Given the description of an element on the screen output the (x, y) to click on. 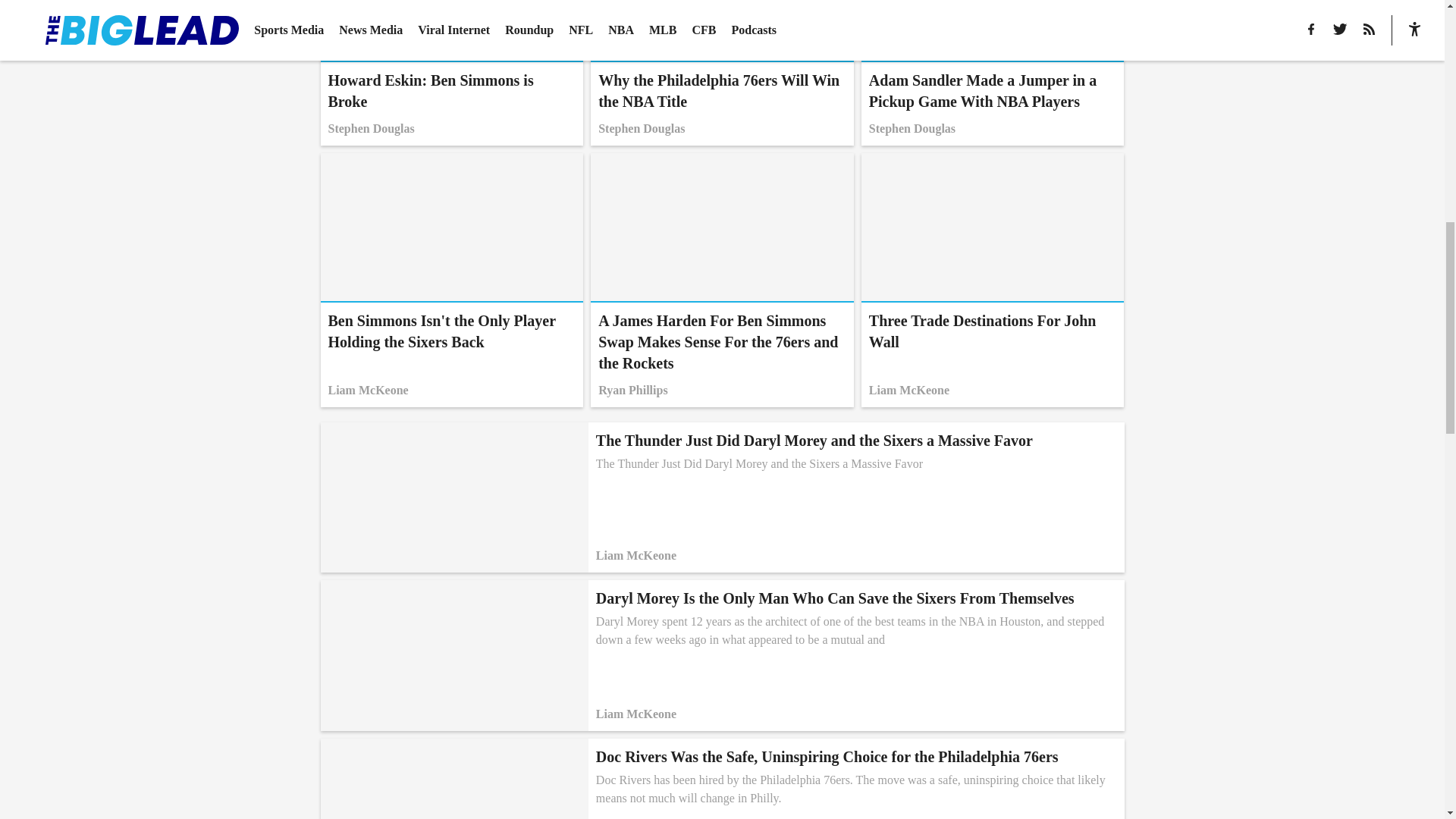
Brooklyn Nets v Philadelphia 76ers (992, 280)
Adam Sandler at an NBA run. (451, 72)
